Given the description of an element on the screen output the (x, y) to click on. 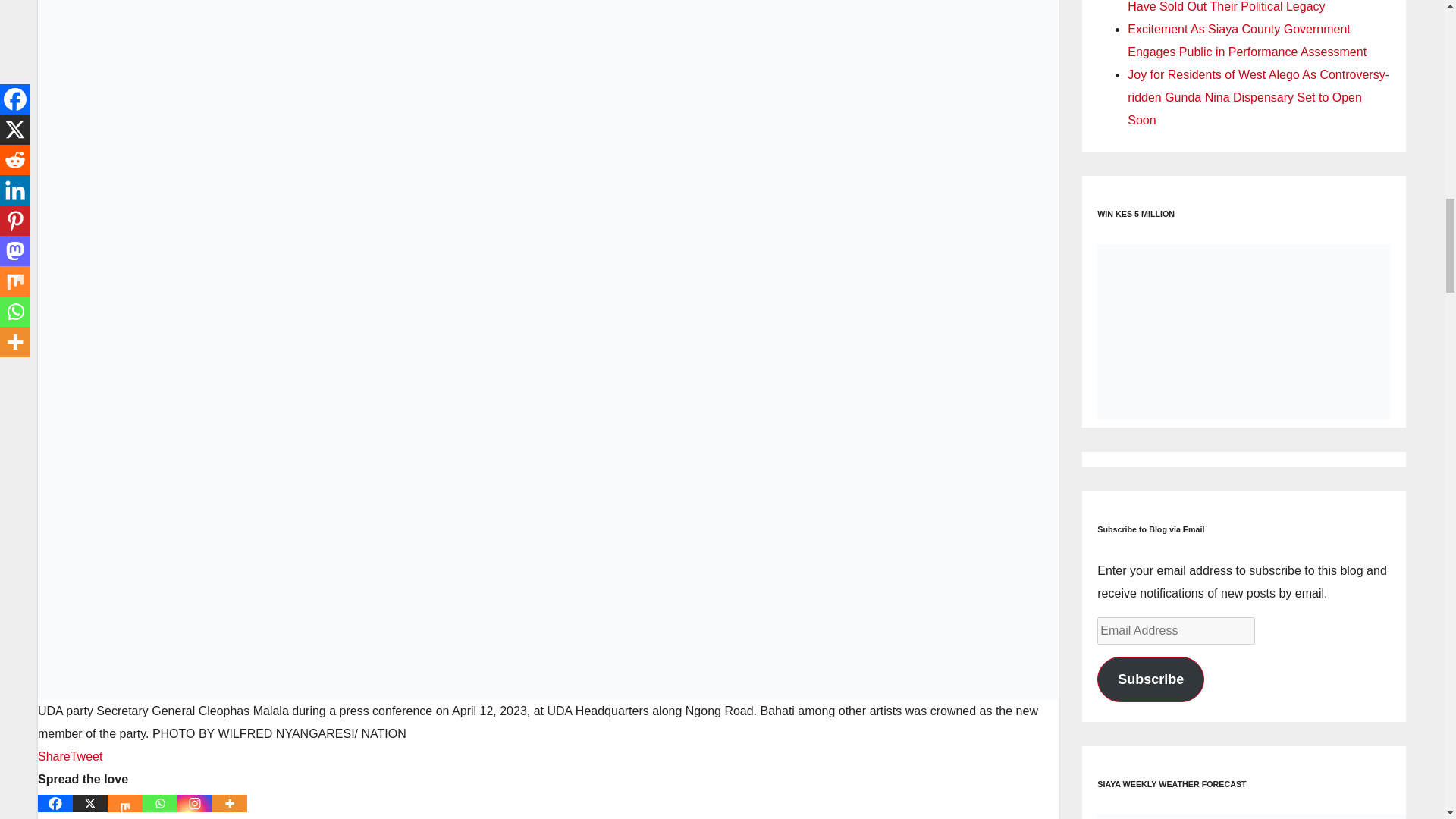
Whatsapp (159, 803)
Instagram (194, 803)
Tweet (86, 756)
Mix (124, 803)
Share (53, 756)
X (89, 803)
Facebook (54, 803)
More (229, 803)
